Given the description of an element on the screen output the (x, y) to click on. 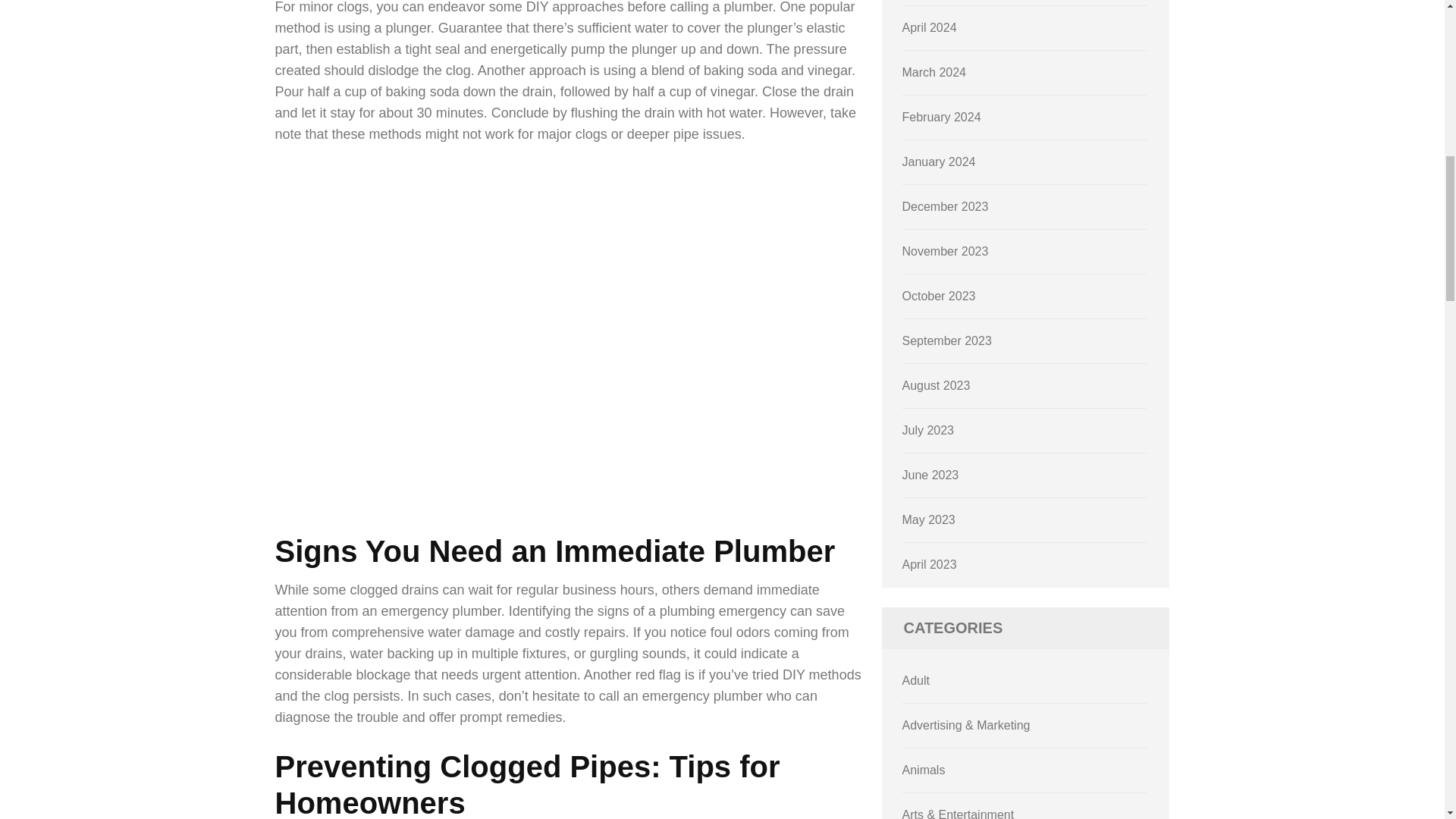
August 2023 (936, 385)
April 2024 (929, 27)
April 2023 (929, 563)
Adult (916, 680)
July 2023 (928, 430)
March 2024 (934, 72)
September 2023 (946, 340)
February 2024 (941, 116)
November 2023 (945, 250)
June 2023 (930, 474)
December 2023 (945, 205)
May 2023 (928, 519)
January 2024 (938, 161)
October 2023 (938, 295)
